Given the description of an element on the screen output the (x, y) to click on. 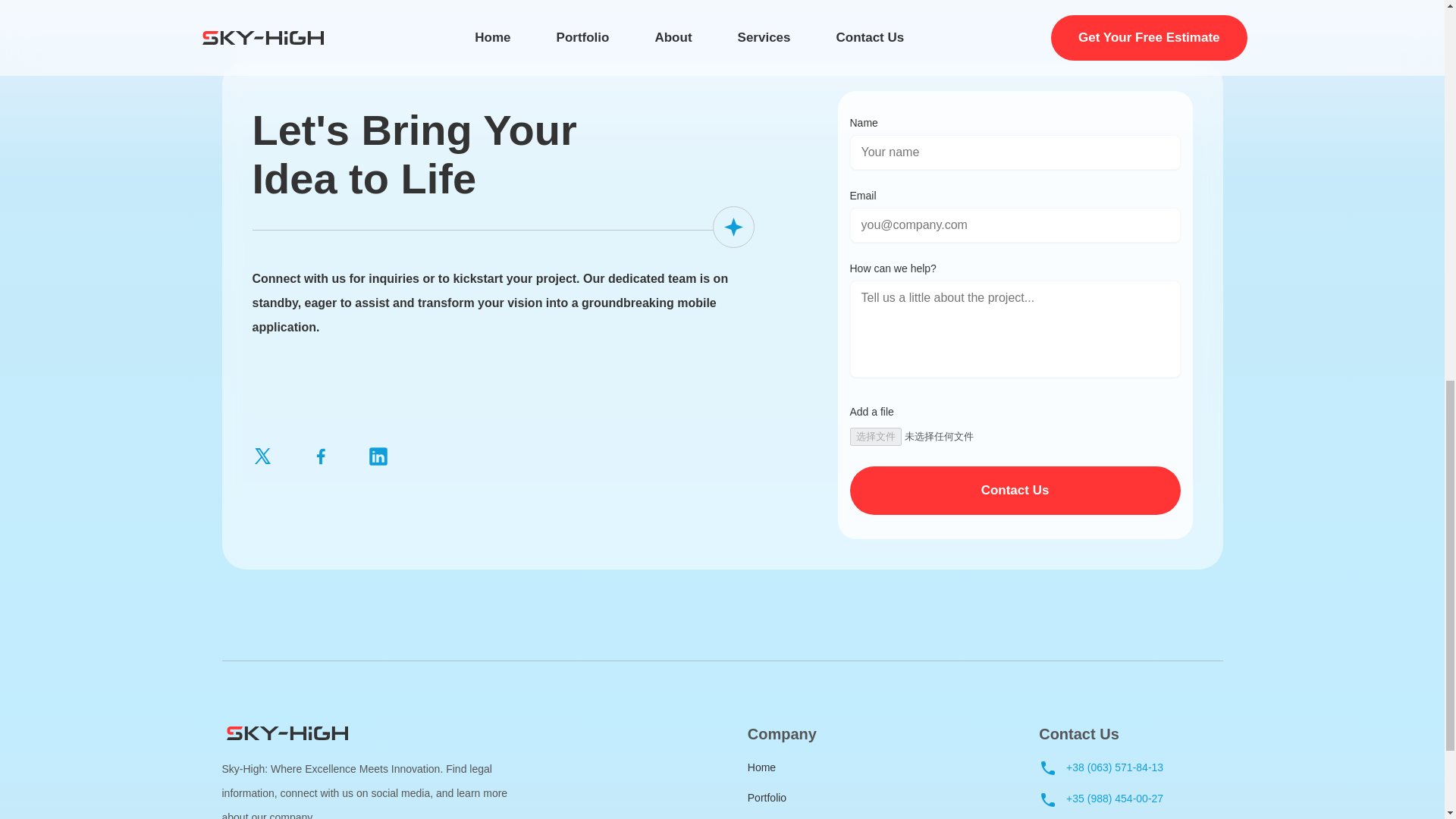
Contact Us (1013, 490)
Portfolio (782, 797)
Contact Us (1013, 490)
Home (782, 767)
